Given the description of an element on the screen output the (x, y) to click on. 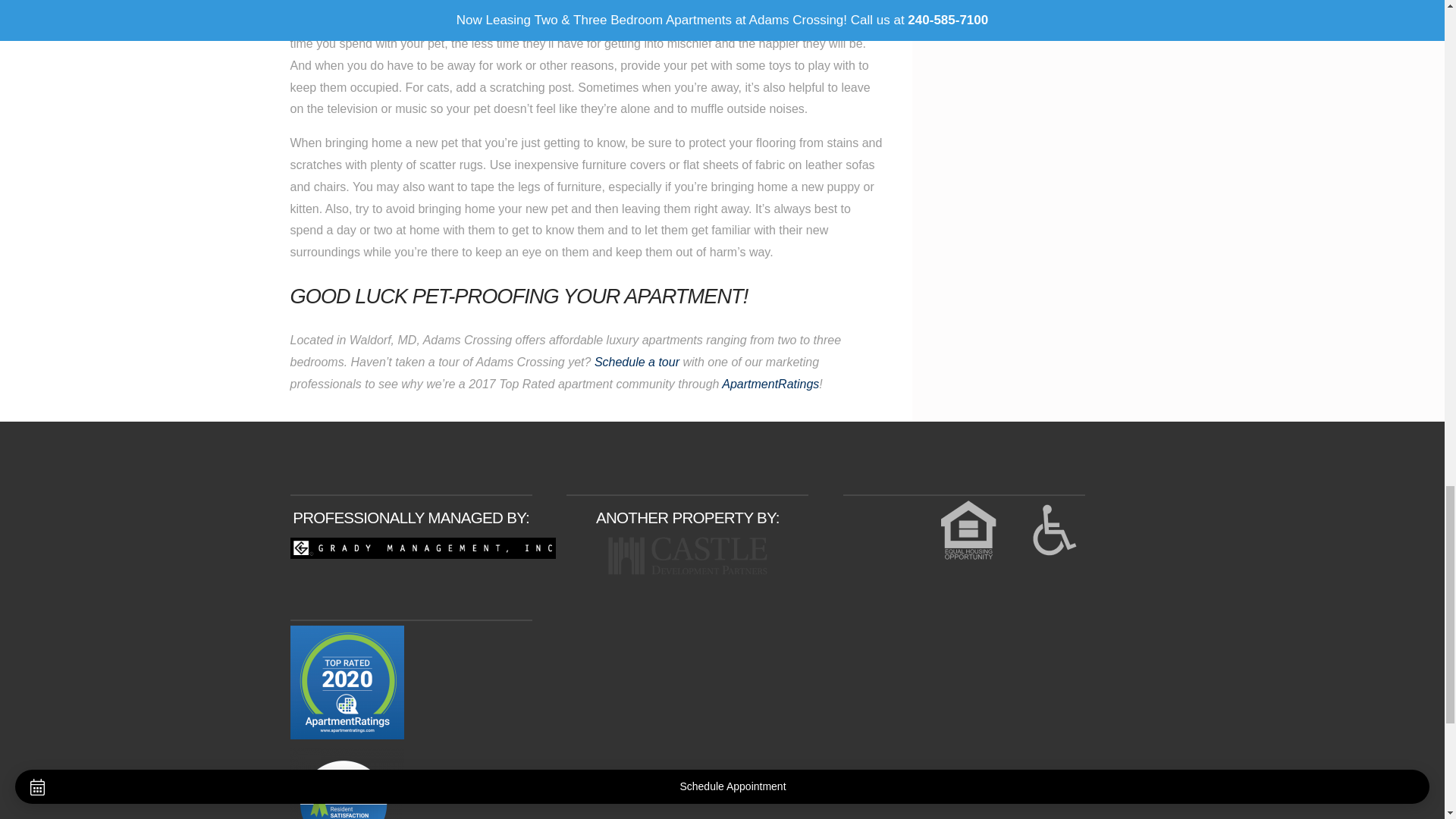
ApartmentRatings (770, 383)
Schedule a tour (636, 361)
